Given the description of an element on the screen output the (x, y) to click on. 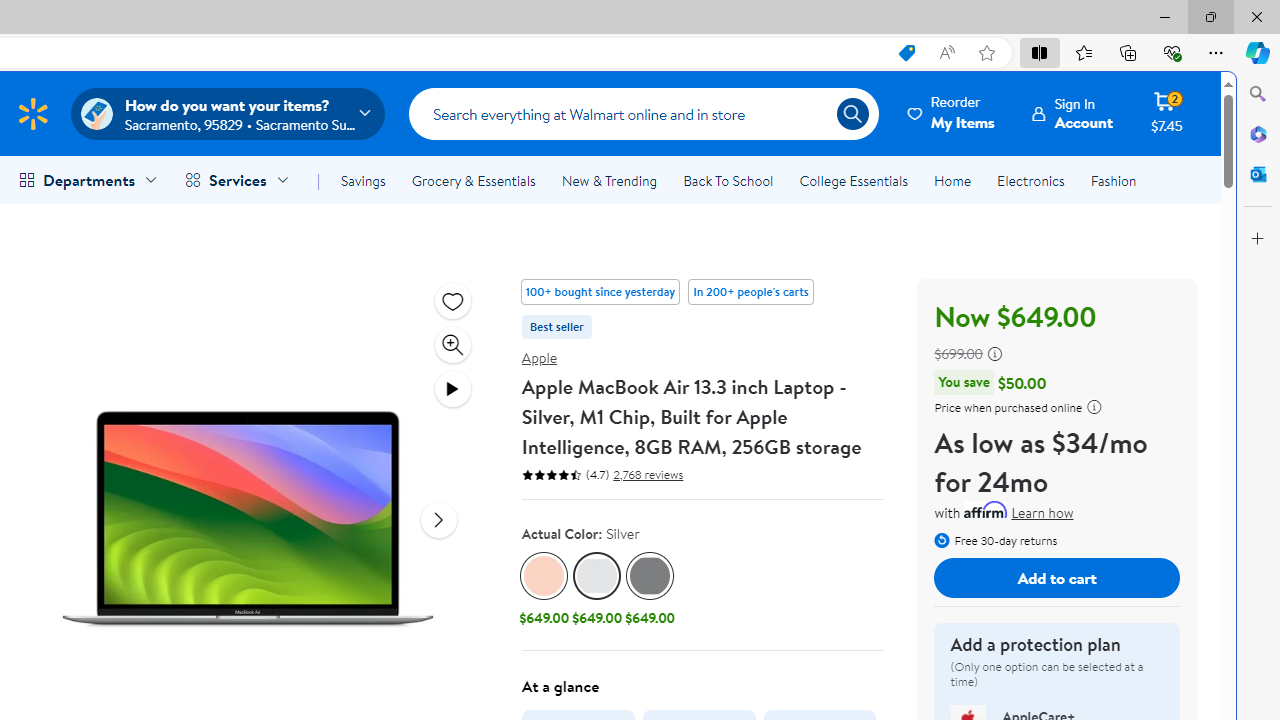
Affirm (985, 509)
Grocery & Essentials (473, 180)
Gold (543, 575)
New & Trending (608, 180)
